Given the description of an element on the screen output the (x, y) to click on. 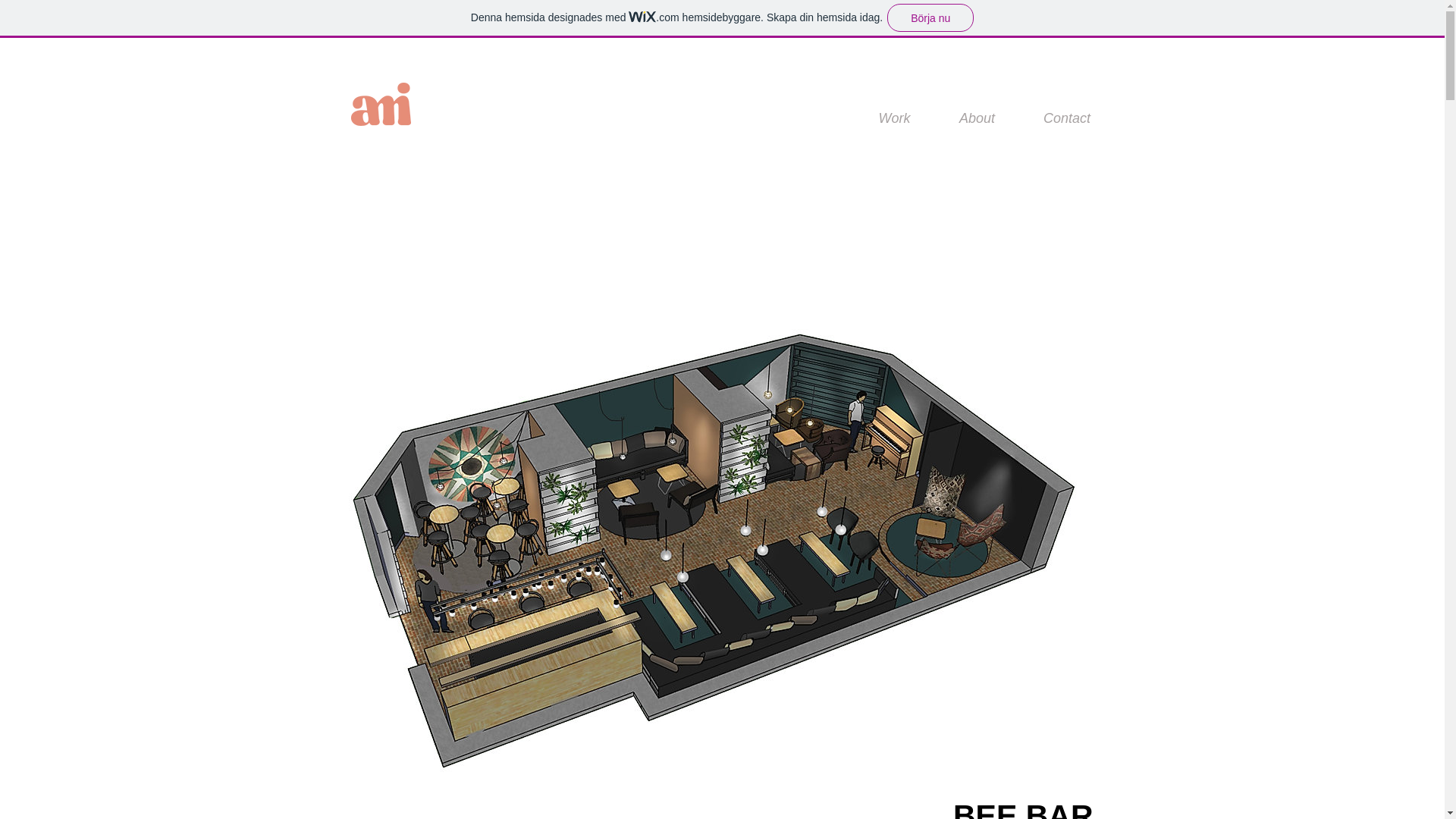
About (976, 117)
Work (893, 117)
Contact (1066, 117)
